Given the description of an element on the screen output the (x, y) to click on. 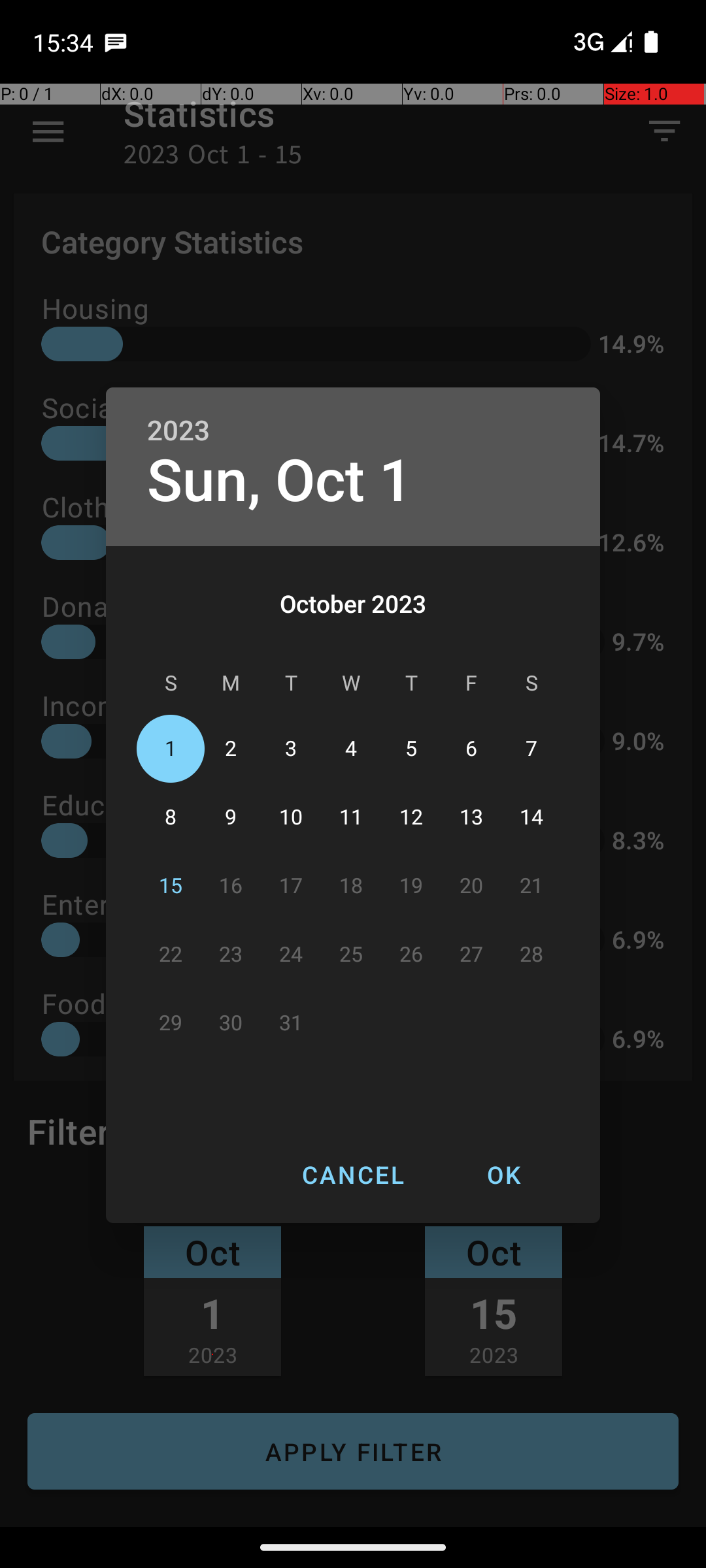
Sun, Oct 1 Element type: android.widget.TextView (279, 480)
